Given the description of an element on the screen output the (x, y) to click on. 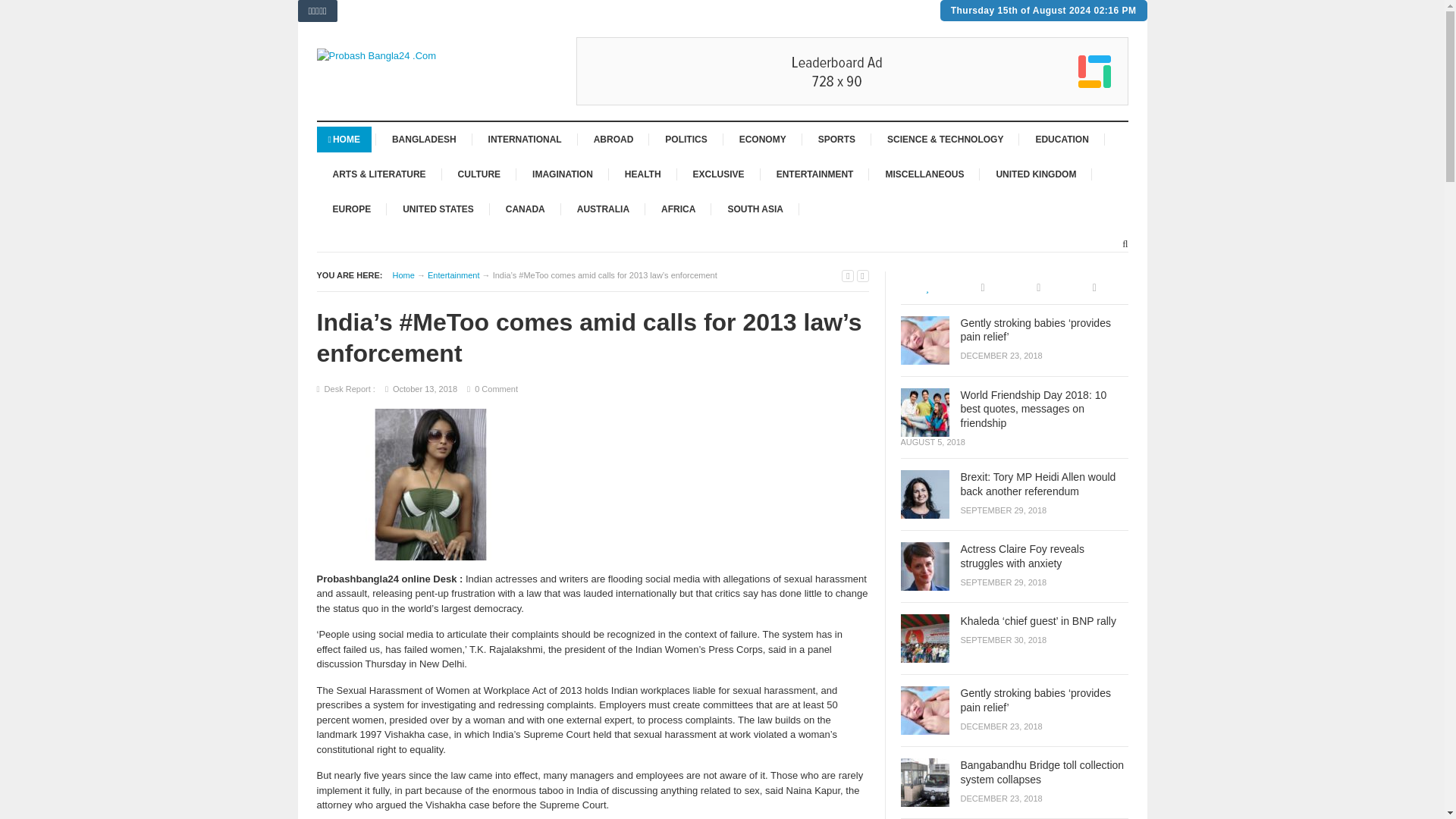
SPORTS (836, 139)
Entertainment (453, 274)
EUROPE (351, 208)
Previous Post (847, 275)
CULTURE (479, 174)
ENTERTAINMENT (814, 174)
HEALTH (642, 174)
0 Comment (496, 388)
SOUTH ASIA (755, 208)
Comments (1038, 287)
